Given the description of an element on the screen output the (x, y) to click on. 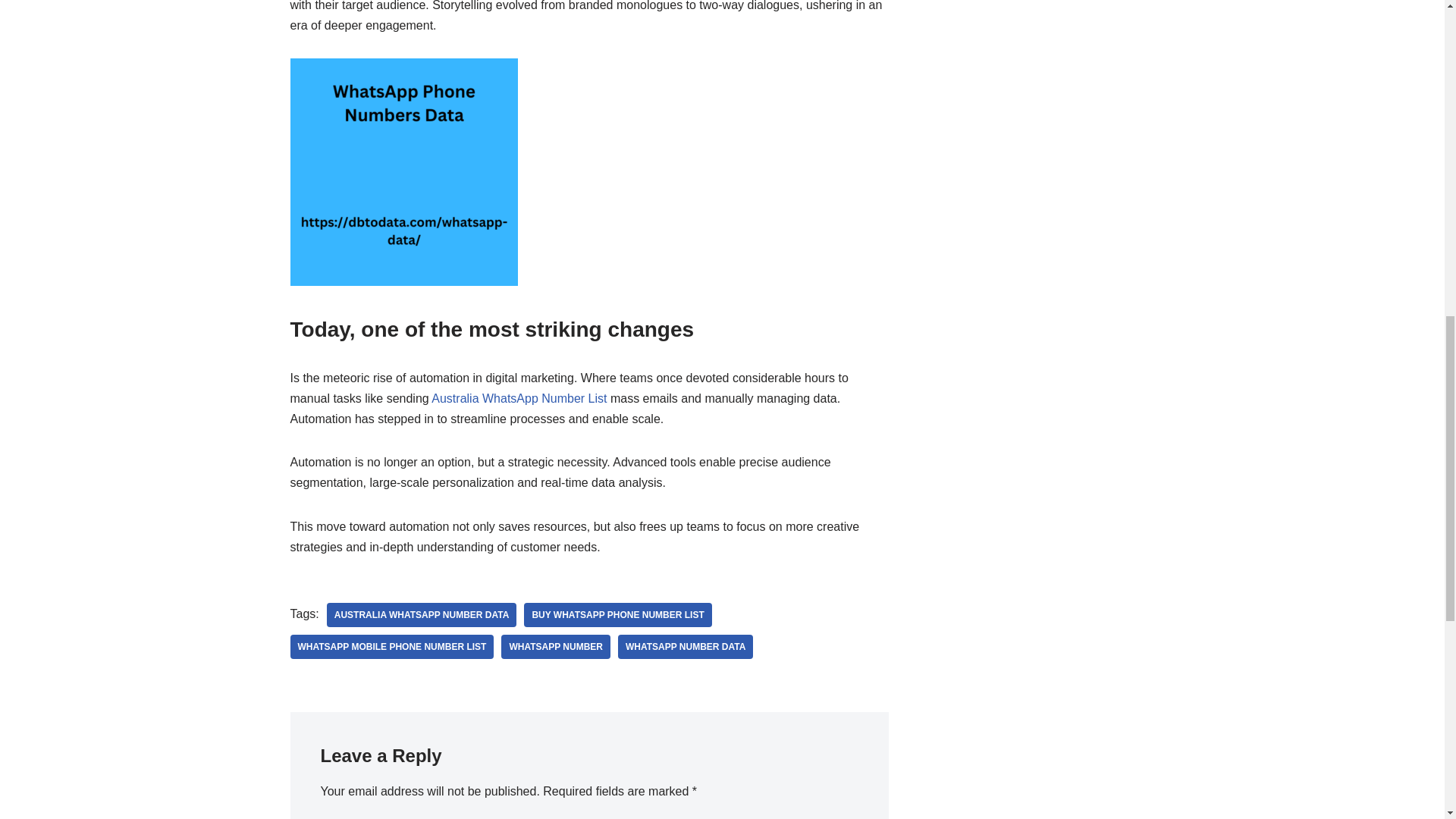
WHATSAPP NUMBER DATA (684, 646)
WhatsApp Number Data (684, 646)
Australia WhatsApp Number List (518, 398)
WHATSAPP NUMBER (555, 646)
WhatsApp mobile phone number list (391, 646)
Buy WhatsApp phone number list (617, 614)
WHATSAPP MOBILE PHONE NUMBER LIST (391, 646)
BUY WHATSAPP PHONE NUMBER LIST (617, 614)
Australia WhatsApp Number Data (421, 614)
AUSTRALIA WHATSAPP NUMBER DATA (421, 614)
WhatsApp Number (555, 646)
